Given the description of an element on the screen output the (x, y) to click on. 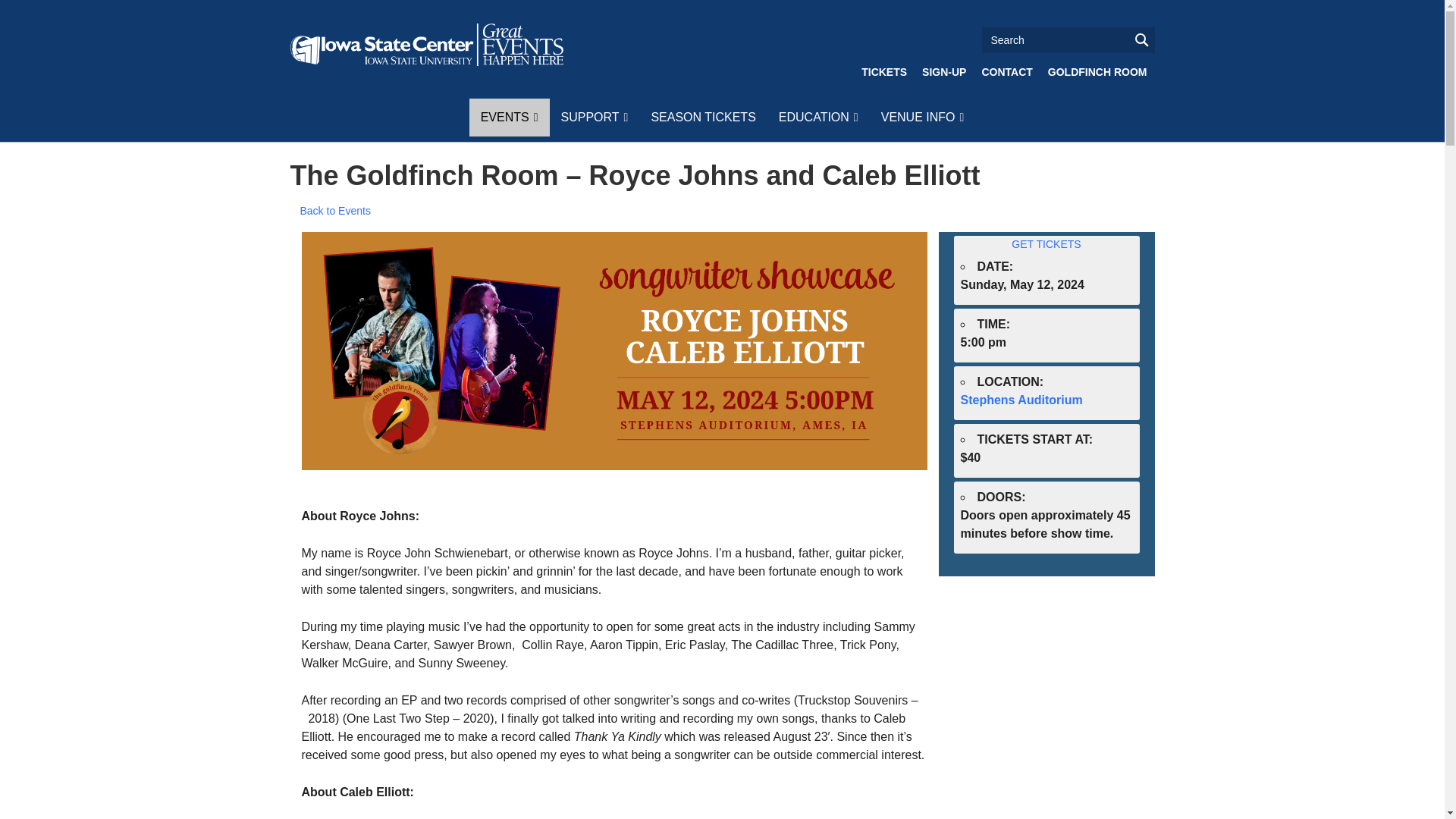
Iowa State University (425, 44)
GOLDFINCH ROOM (1097, 71)
EVENTS (509, 117)
TICKETS (883, 71)
SUPPORT (593, 117)
Search (1067, 40)
Home (425, 44)
SIGN-UP (944, 71)
CONTACT (1006, 71)
